Given the description of an element on the screen output the (x, y) to click on. 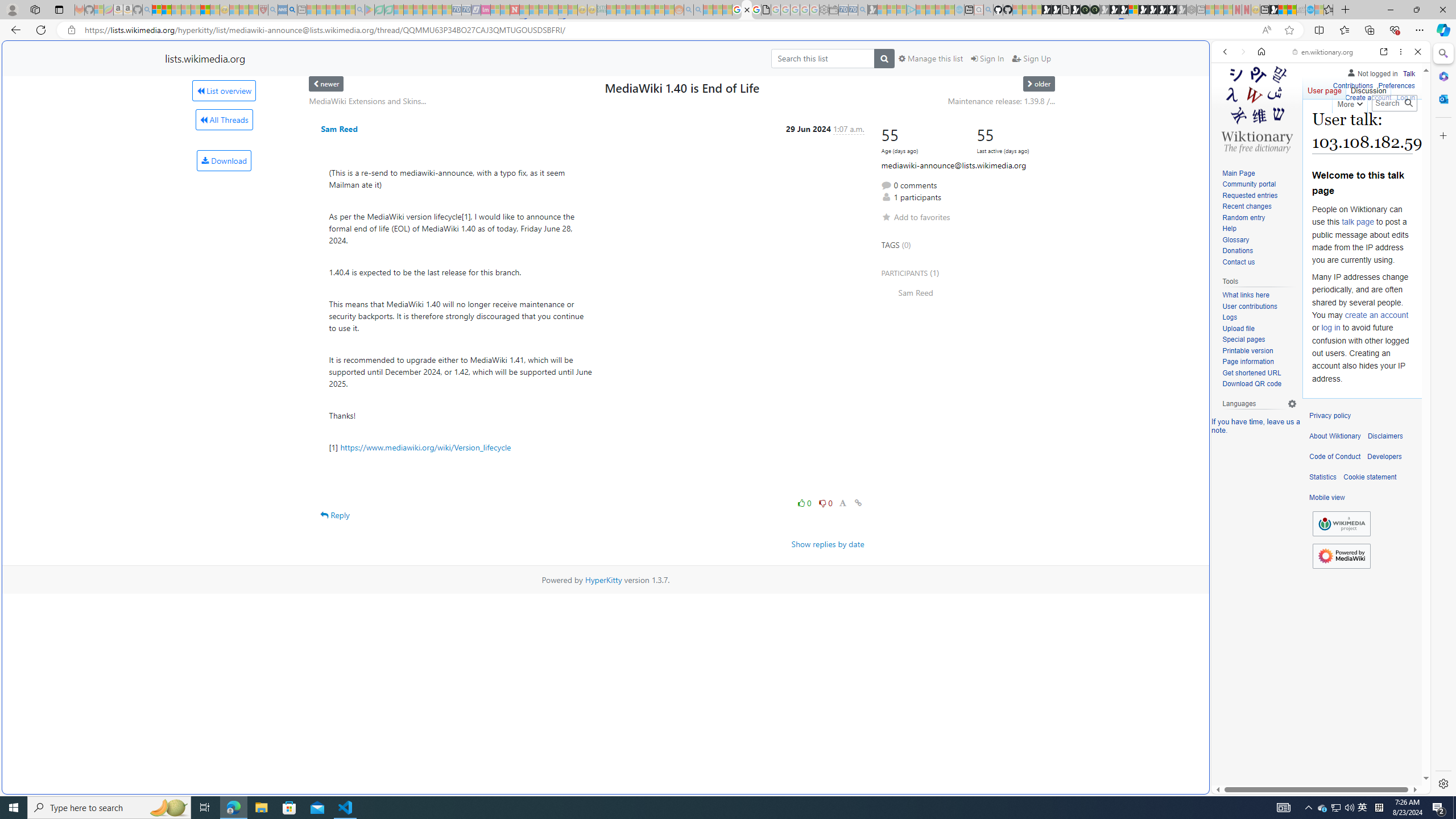
Cheap Car Rentals - Save70.com - Sleeping (853, 9)
Latest Politics News & Archive | Newsweek.com - Sleeping (514, 9)
MSN (1272, 9)
What links here (1259, 295)
What links here (1245, 295)
google - Search - Sleeping (359, 9)
mediawiki-announce@lists.wikimedia.org (953, 165)
Disclaimers (1385, 436)
Open link in new tab (1383, 51)
